Given the description of an element on the screen output the (x, y) to click on. 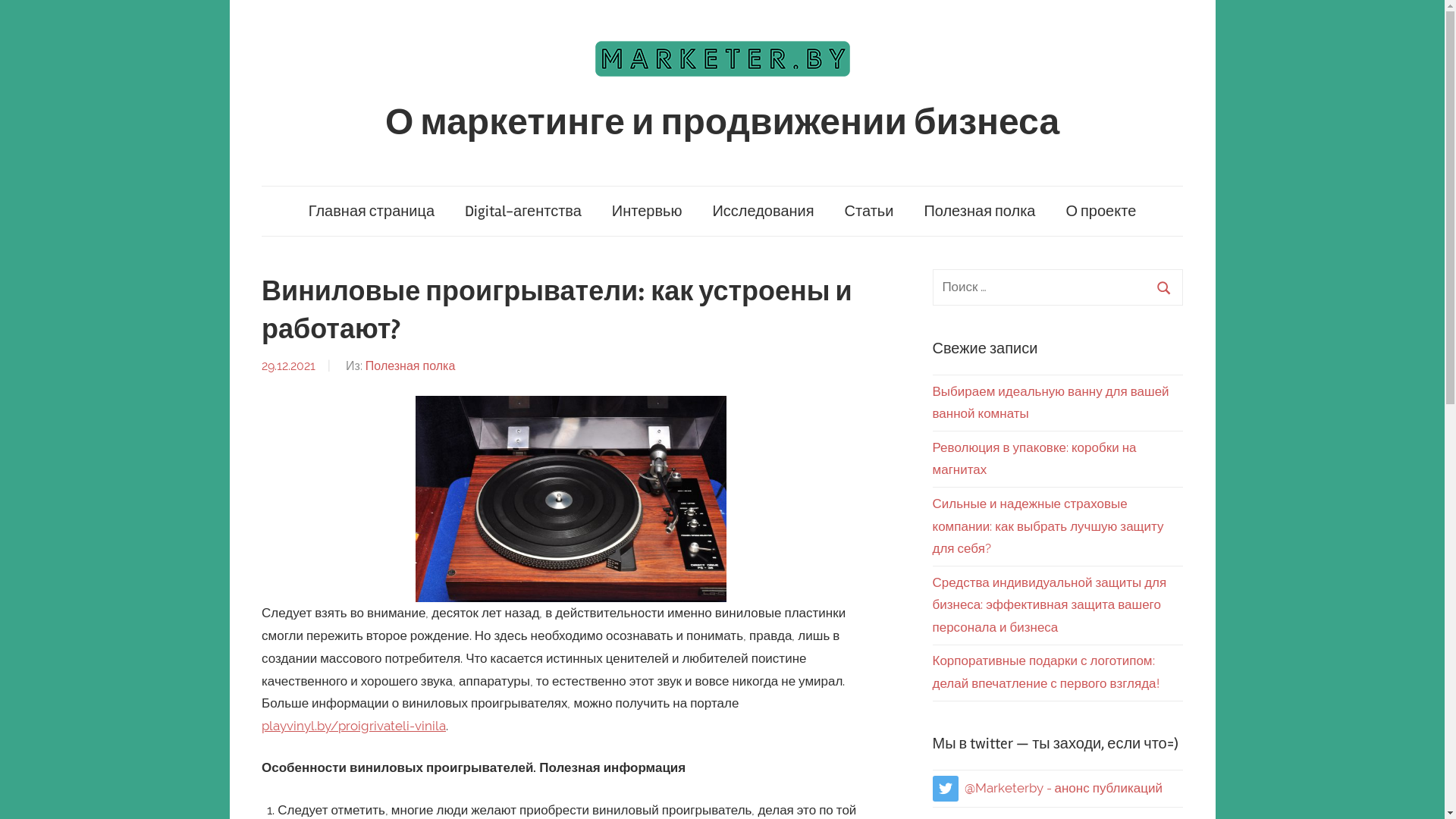
29.12.2021 Element type: text (288, 365)
playvinyl.by/proigrivateli-vinila Element type: text (353, 725)
